Given the description of an element on the screen output the (x, y) to click on. 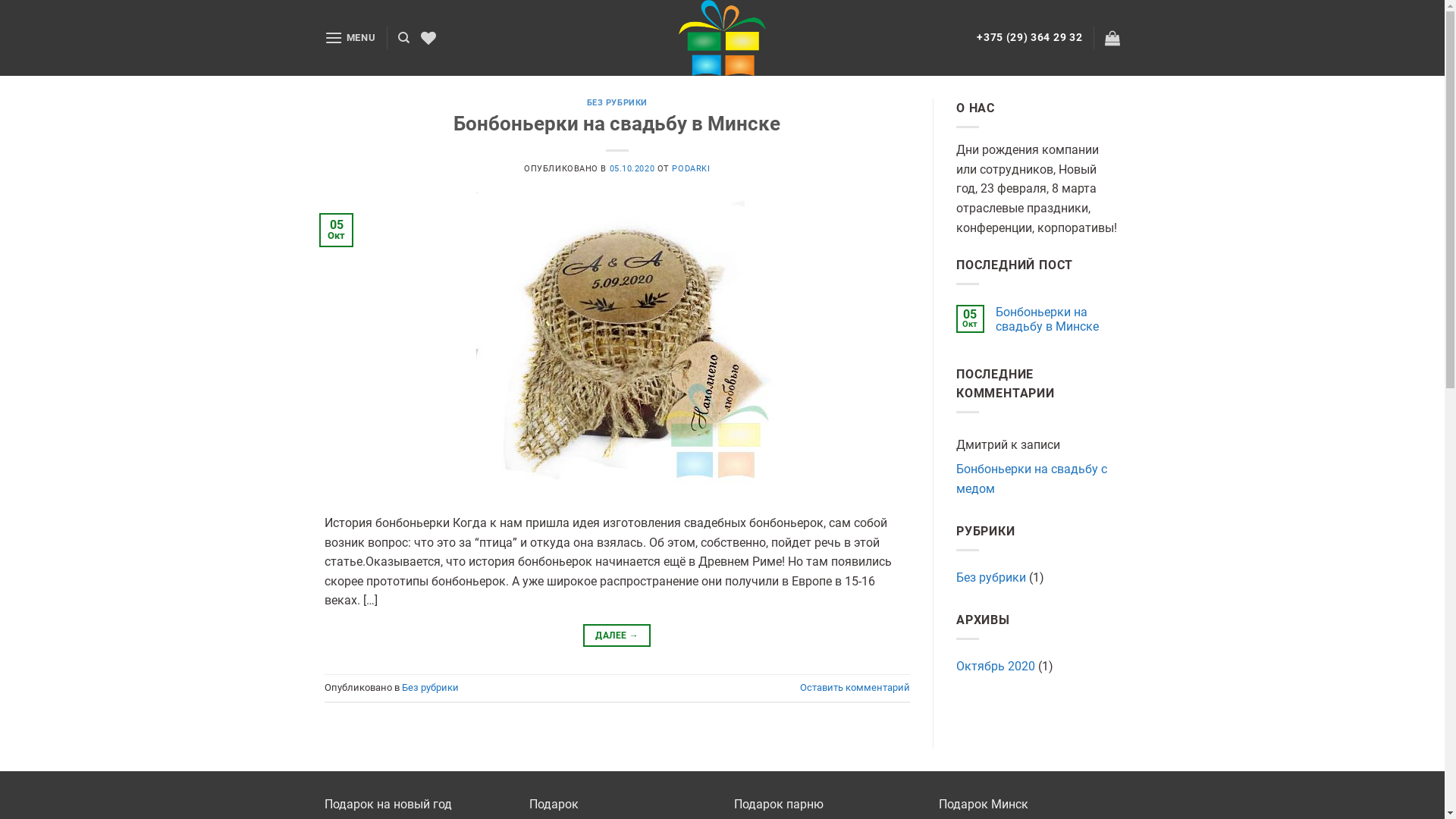
MENU Element type: text (350, 37)
05.10.2020 Element type: text (632, 168)
PODARKI Element type: text (690, 168)
+375 (29) 364 29 32 Element type: text (1029, 37)
podarki-gifts.by - podarki-gifts.by Element type: hover (721, 37)
